Given the description of an element on the screen output the (x, y) to click on. 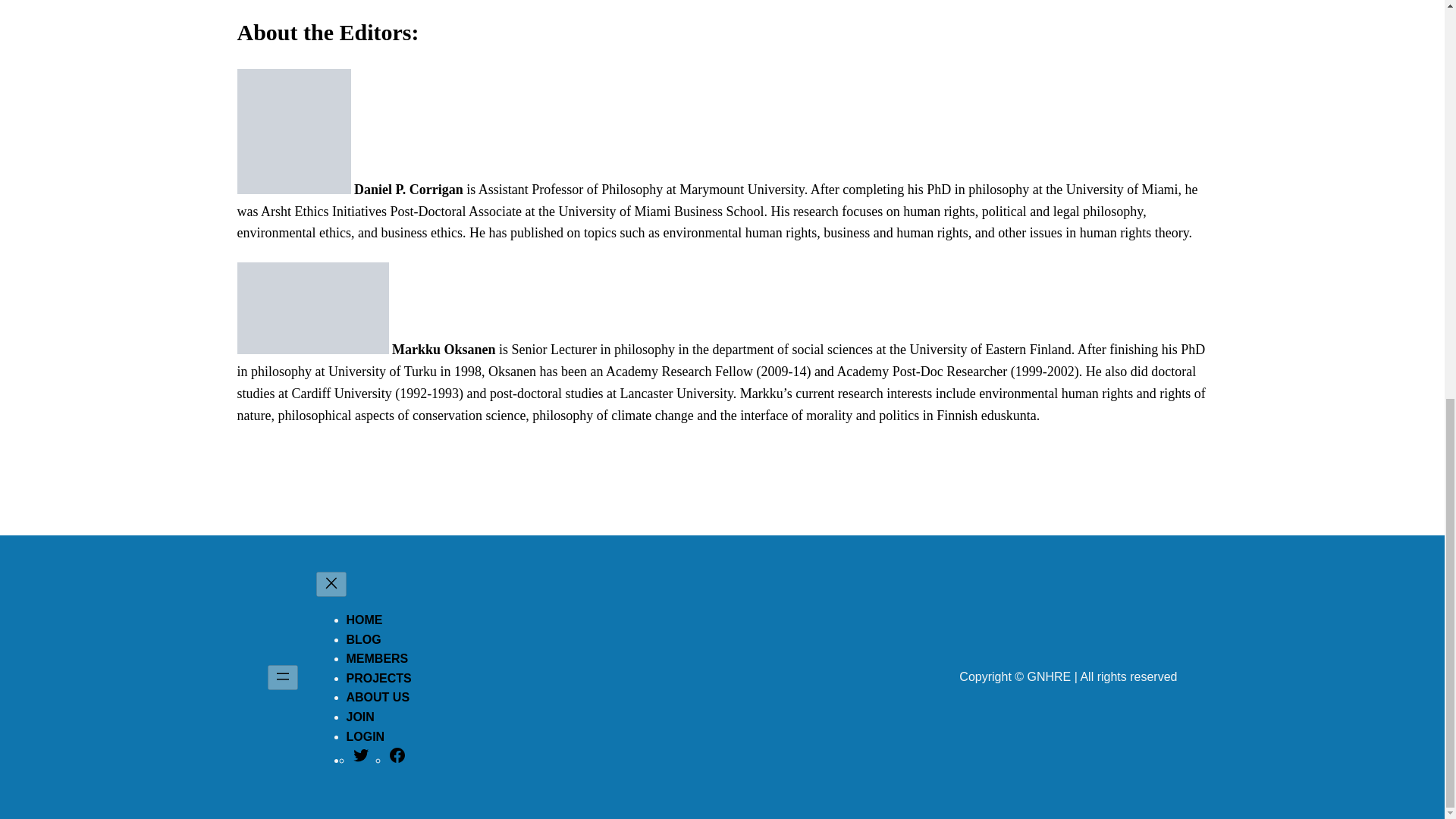
BLOG (363, 639)
ABOUT US (377, 697)
FACEBOOK (397, 759)
JOIN (360, 716)
PROJECTS (378, 677)
MEMBERS (376, 658)
LOGIN (365, 736)
HOME (363, 619)
TWITTER (360, 759)
